Given the description of an element on the screen output the (x, y) to click on. 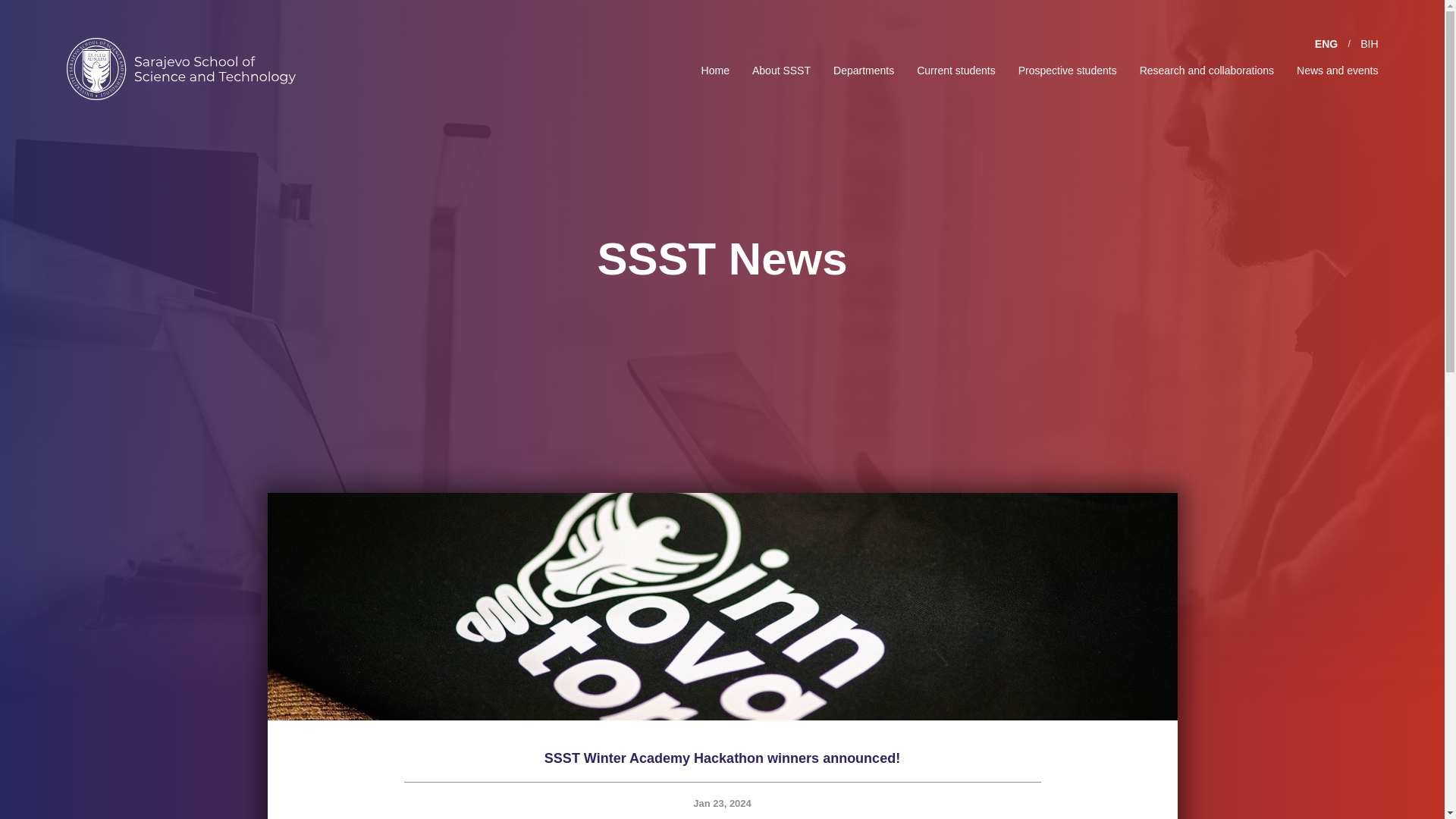
BIH (1368, 43)
Departments (862, 70)
About SSST (781, 70)
ENG (1326, 43)
